Given the description of an element on the screen output the (x, y) to click on. 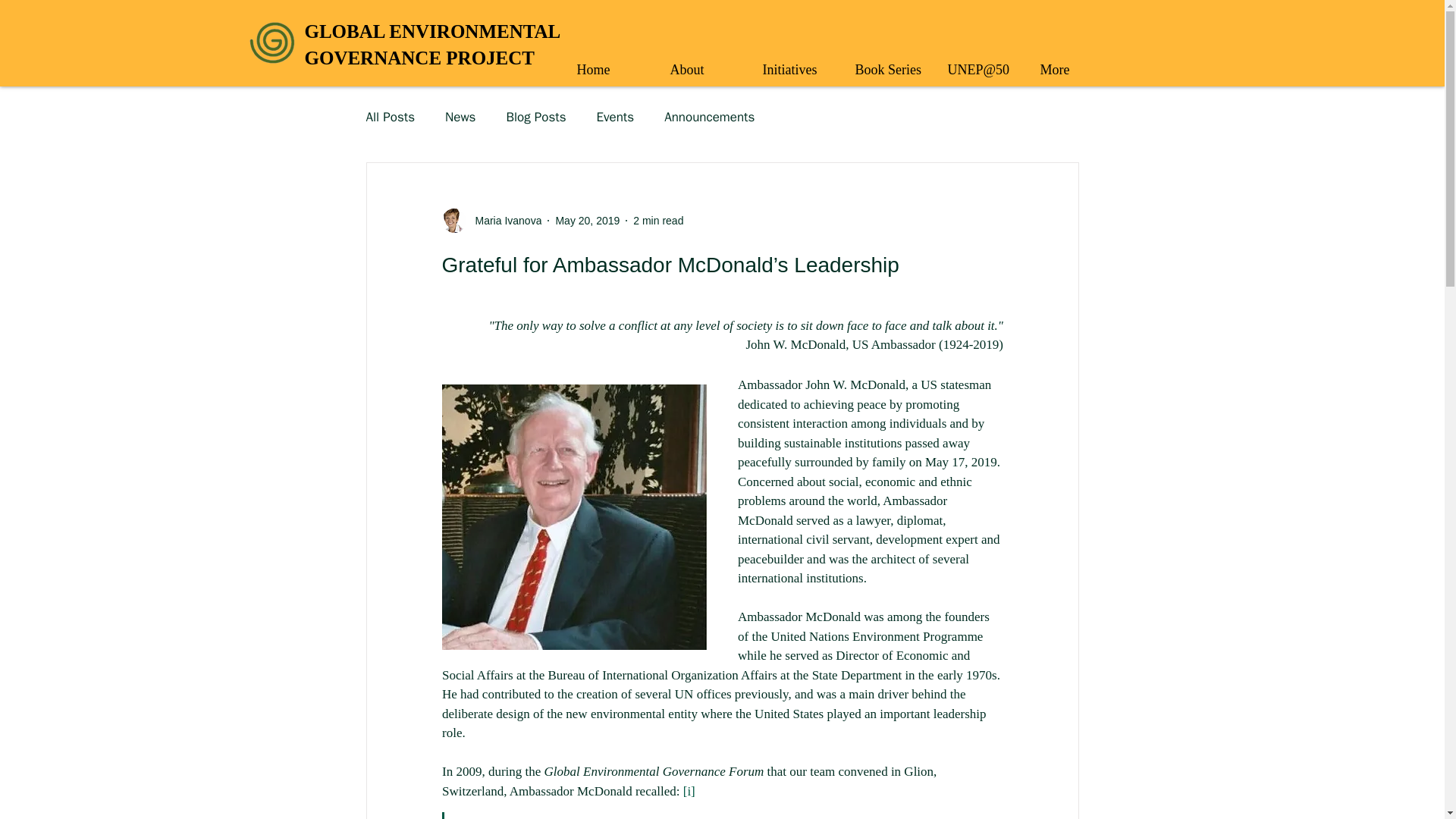
Maria Ivanova (491, 220)
Home (616, 63)
Blog Posts (535, 116)
News (460, 116)
Events (615, 116)
2 min read (657, 219)
May 20, 2019 (432, 44)
All Posts (587, 219)
Announcements (389, 116)
About (708, 116)
Book Series (710, 63)
Maria Ivanova (895, 63)
